Given the description of an element on the screen output the (x, y) to click on. 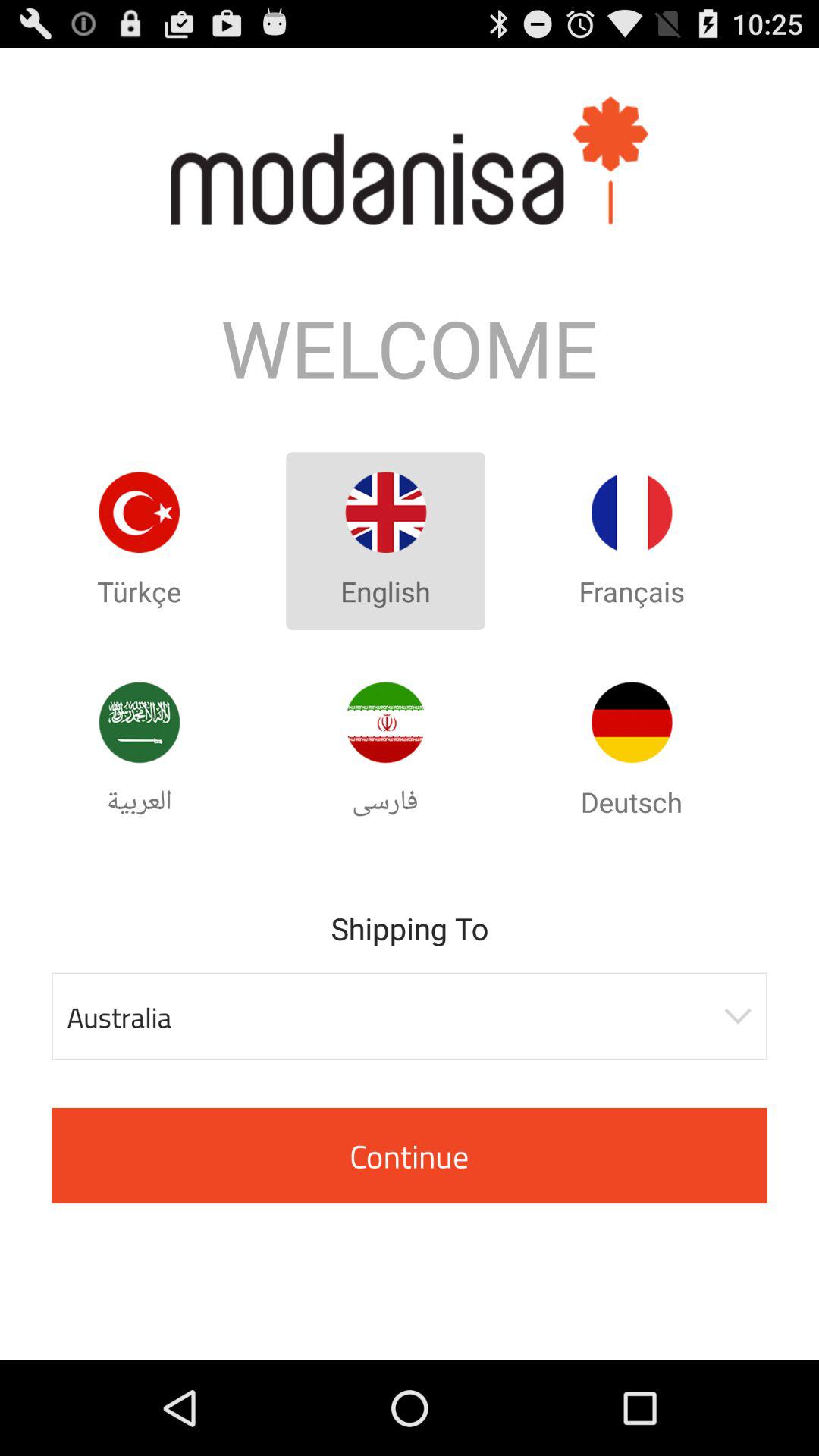
set the language as deutsch (631, 722)
